Given the description of an element on the screen output the (x, y) to click on. 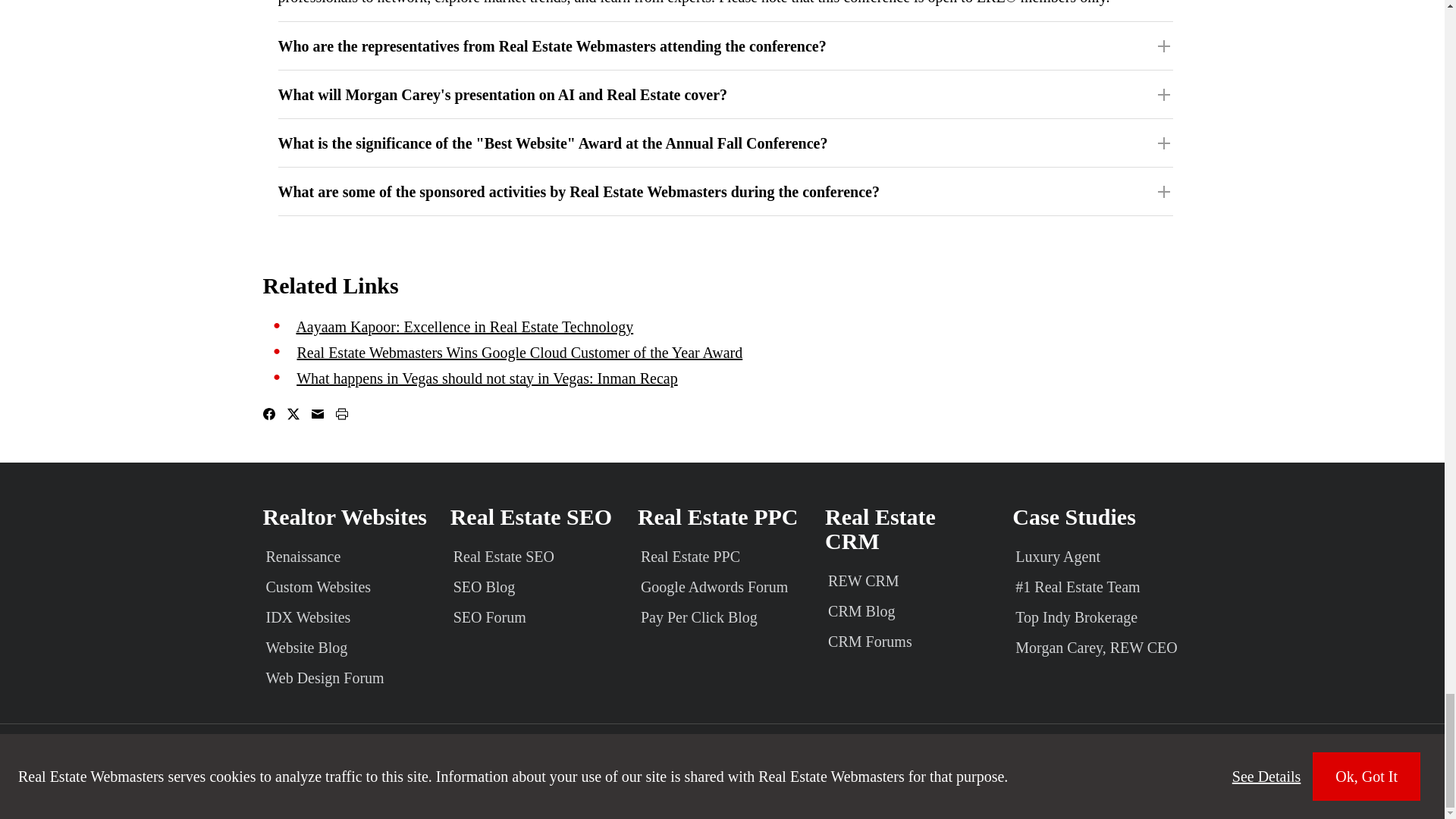
Share this post on Facebook (268, 413)
Opens new window with print ready page (340, 413)
What happens in Vegas should not stay in Vegas: Inman Recap (487, 378)
Send a link to post via Email (317, 413)
Aayaam Kapoor: Excellence in Real Estate Technology (464, 326)
Real Estate Webmasters phone number (1254, 751)
Aayaam Kapoor: Excellence in Real Estate Technology (464, 326)
Tweet this post on Twitter (292, 413)
